Given the description of an element on the screen output the (x, y) to click on. 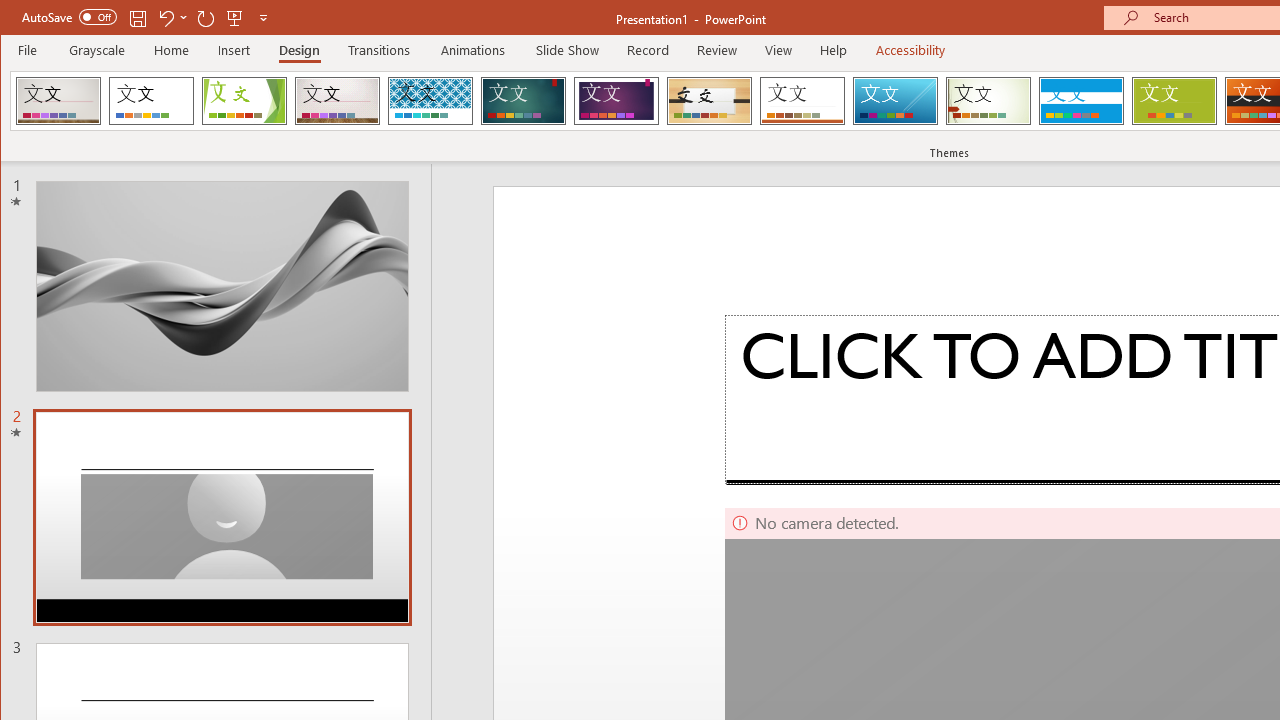
Facet (244, 100)
Ion (523, 100)
Grayscale (97, 50)
Banded (1081, 100)
Integral (430, 100)
Basis (1174, 100)
